Given the description of an element on the screen output the (x, y) to click on. 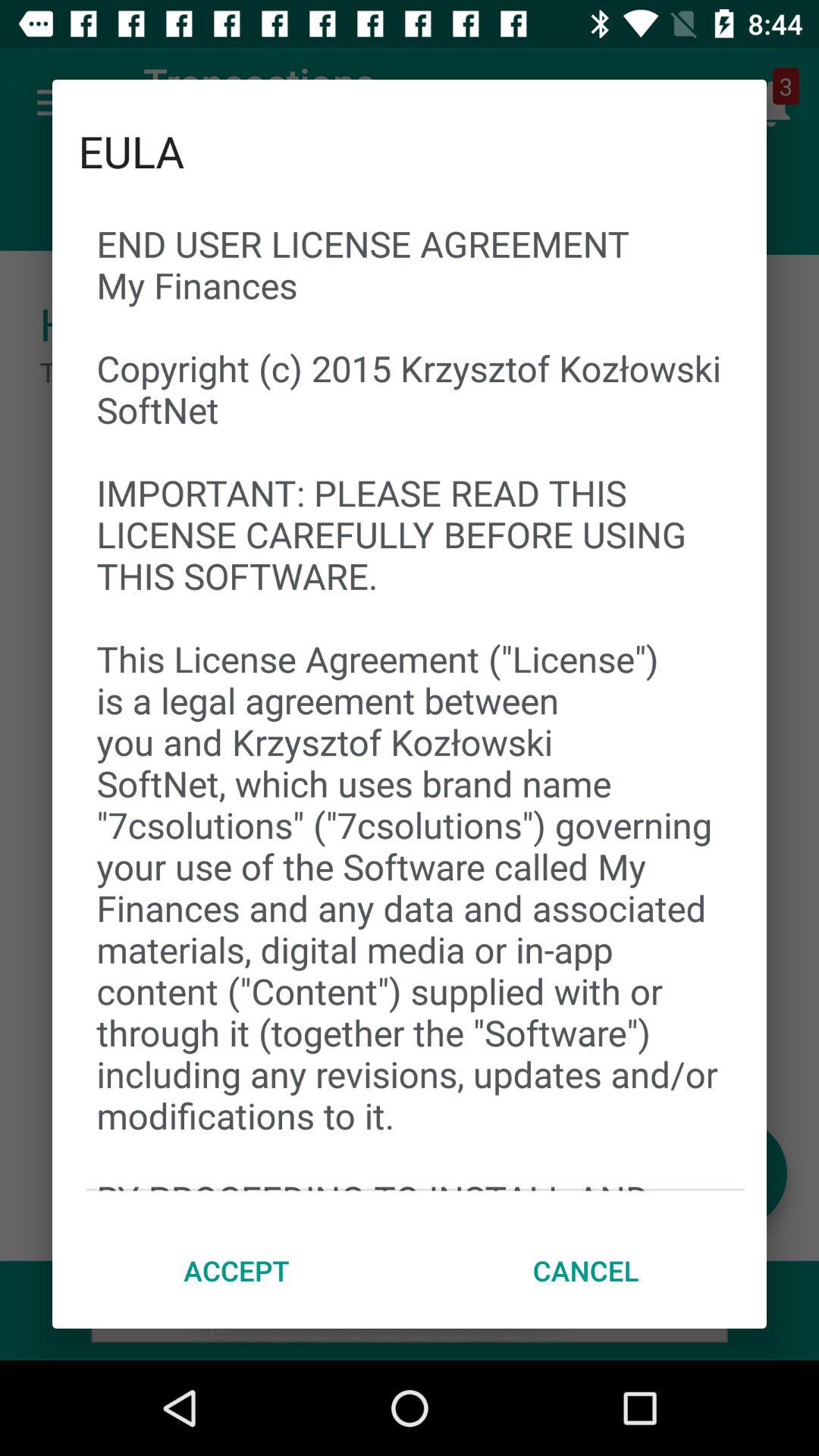
select icon at the bottom right corner (585, 1270)
